Given the description of an element on the screen output the (x, y) to click on. 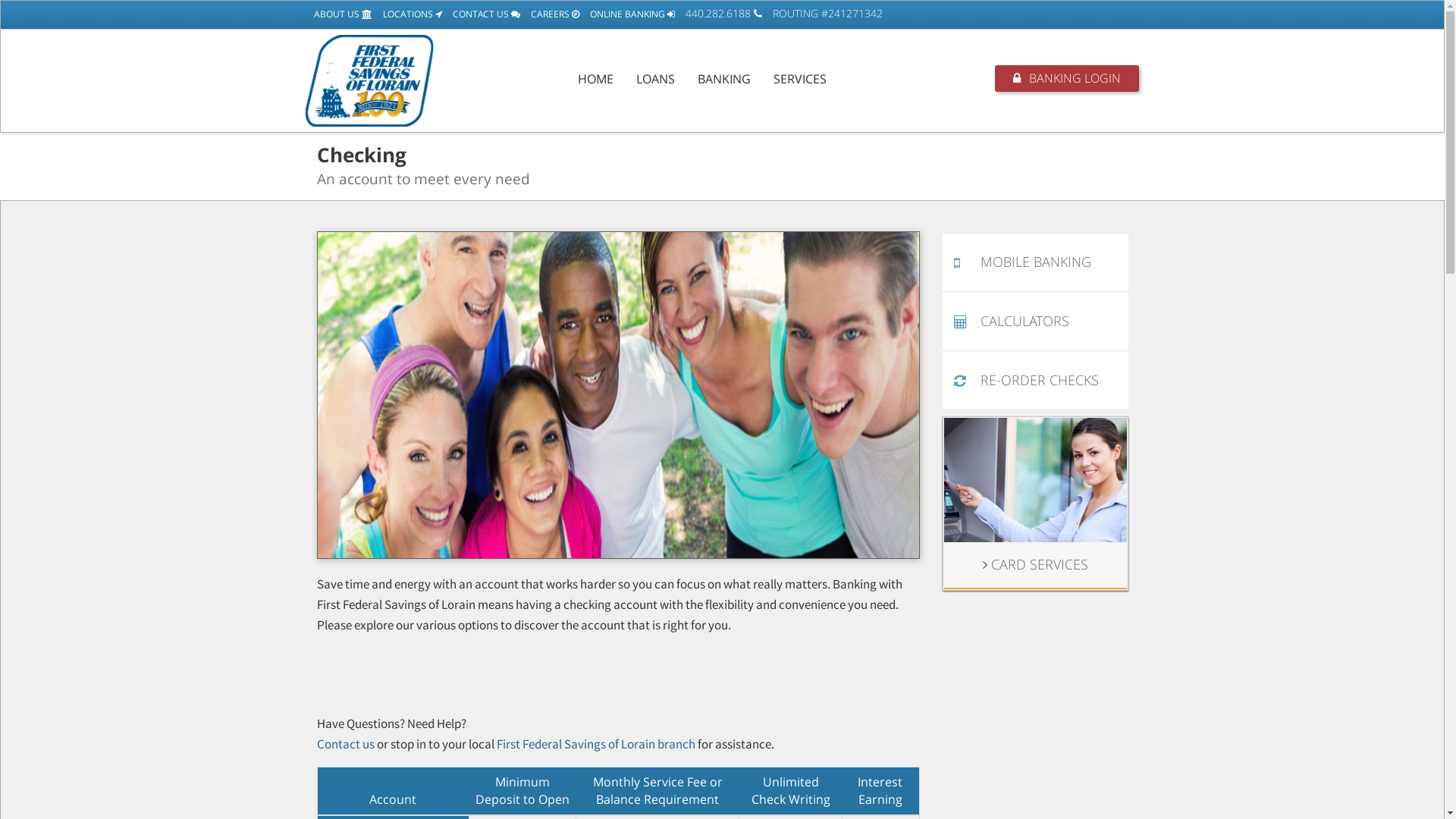
HOME Element type: text (594, 79)
440.282.6188 Element type: text (718, 13)
BANKING LOGIN Element type: text (1066, 78)
CONTACT US Element type: text (482, 13)
LOCATIONS Element type: text (408, 13)
First Federal Savings of Lorain branch Element type: text (594, 743)
Contact us Element type: text (346, 743)
LOANS Element type: text (655, 79)
ROUTING #241271342 Element type: text (823, 13)
SERVICES Element type: text (799, 79)
ONLINE BANKING Element type: text (627, 13)
ABOUT US Element type: text (337, 13)
CAREERS Element type: text (549, 13)
CALCULATORS Element type: text (1034, 320)
RE-ORDER CHECKS Element type: text (1034, 379)
CARD SERVICES Element type: text (1034, 564)
MOBILE BANKING Element type: text (1034, 261)
BANKING Element type: text (723, 79)
